Given the description of an element on the screen output the (x, y) to click on. 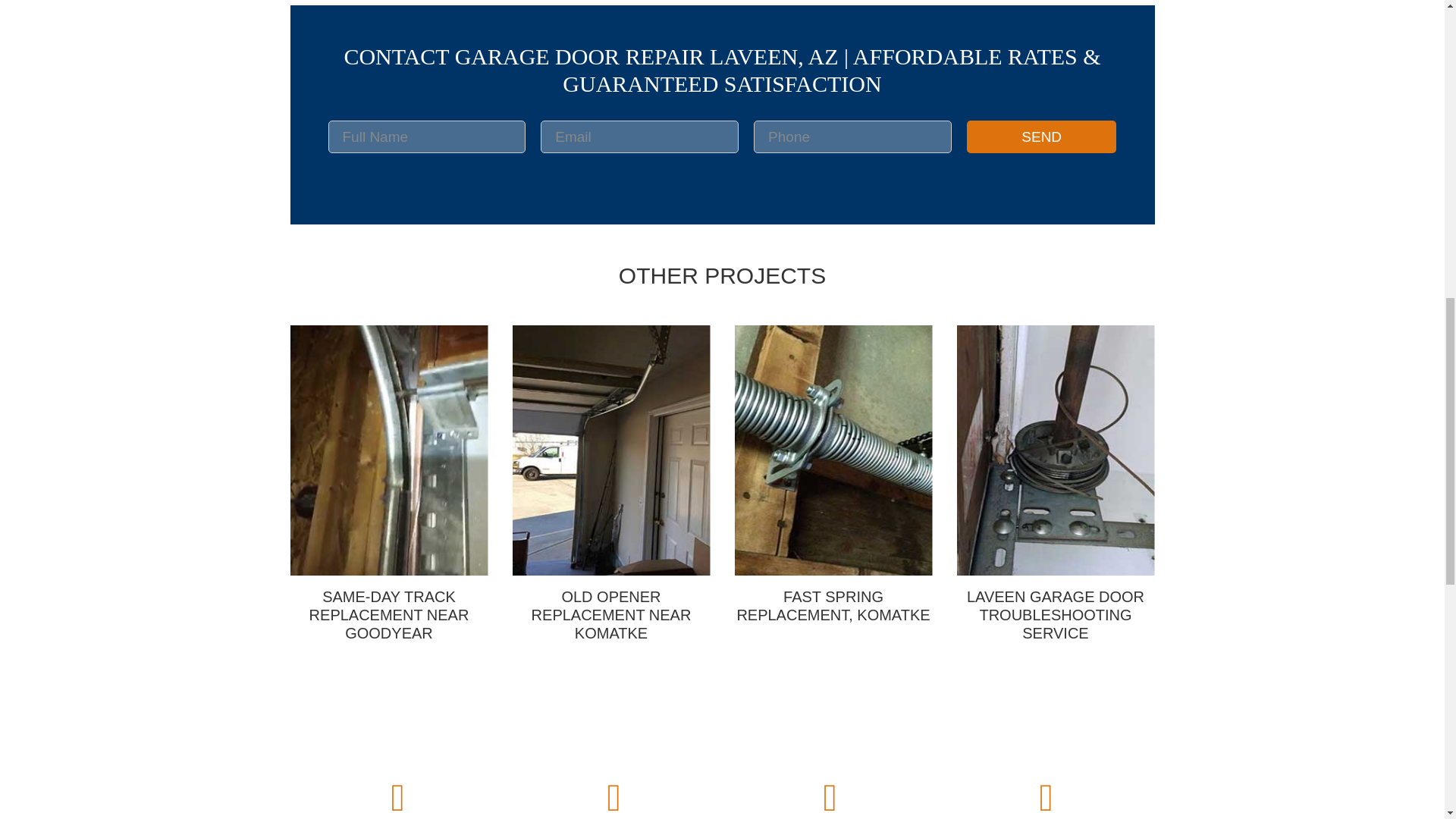
SEND (1041, 136)
SEND (1041, 136)
